Given the description of an element on the screen output the (x, y) to click on. 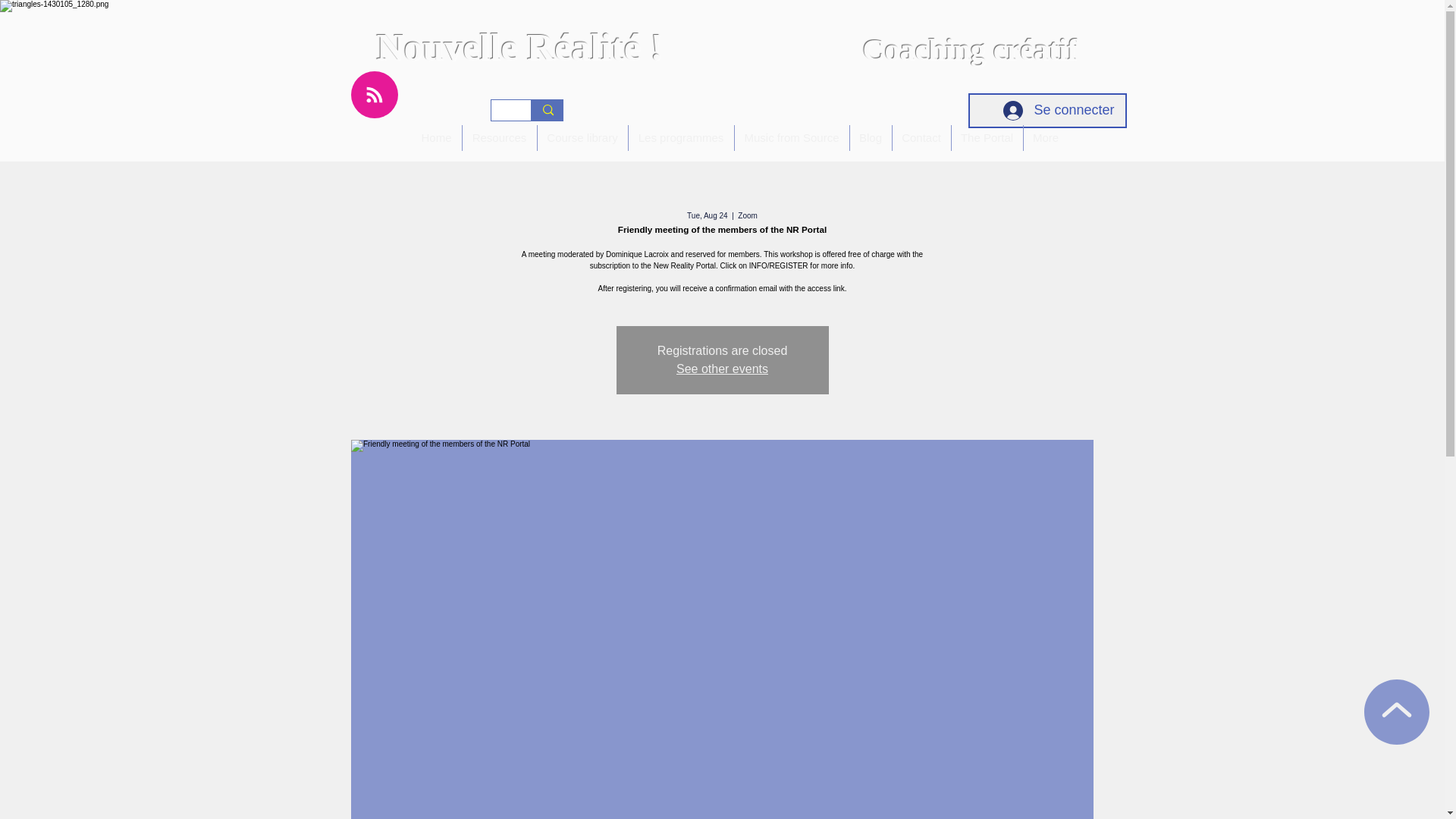
Blog (869, 137)
Se connecter (1058, 110)
Home (435, 137)
Les programmes (680, 137)
